Given the description of an element on the screen output the (x, y) to click on. 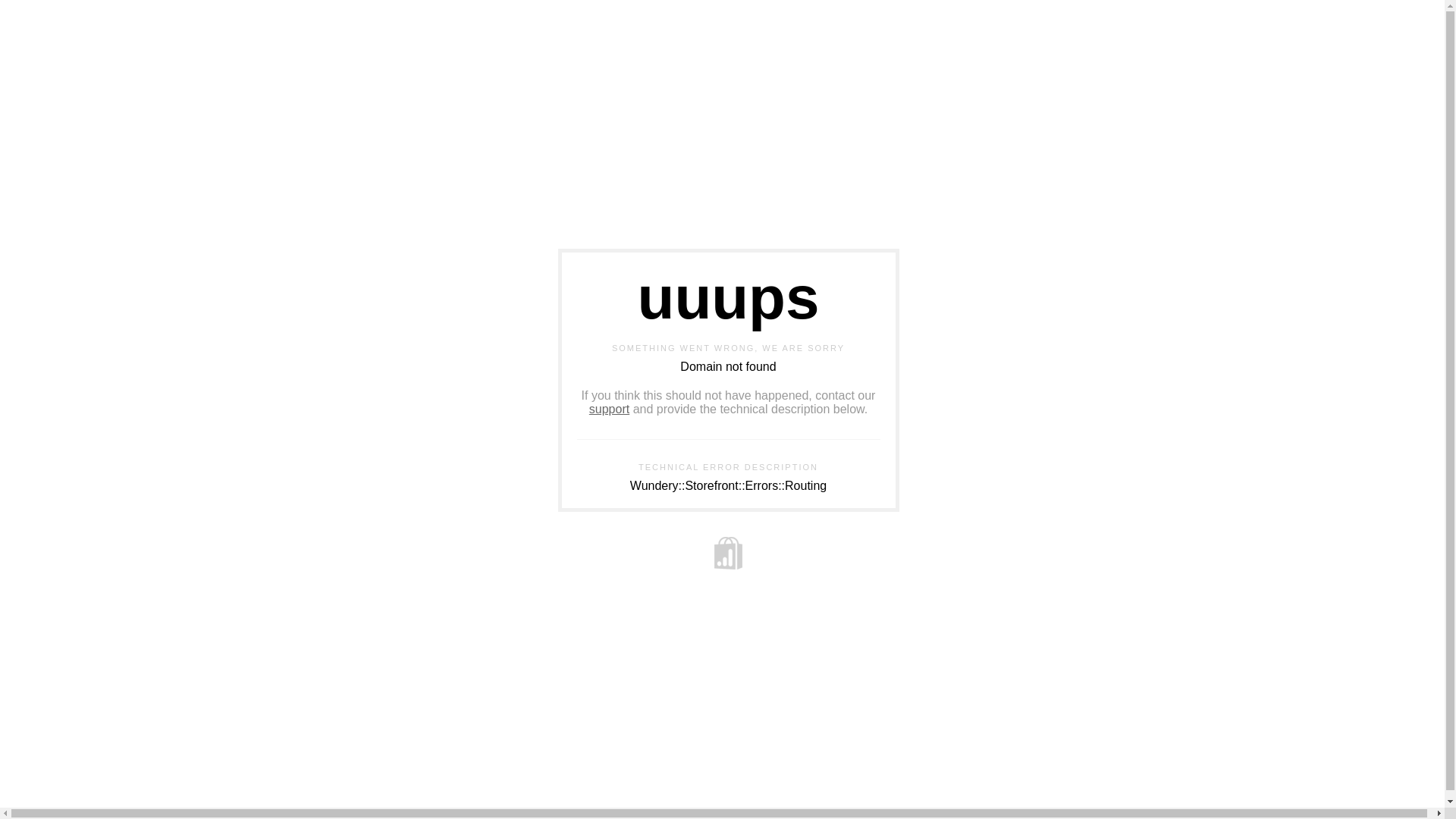
support Element type: text (609, 408)
